Given the description of an element on the screen output the (x, y) to click on. 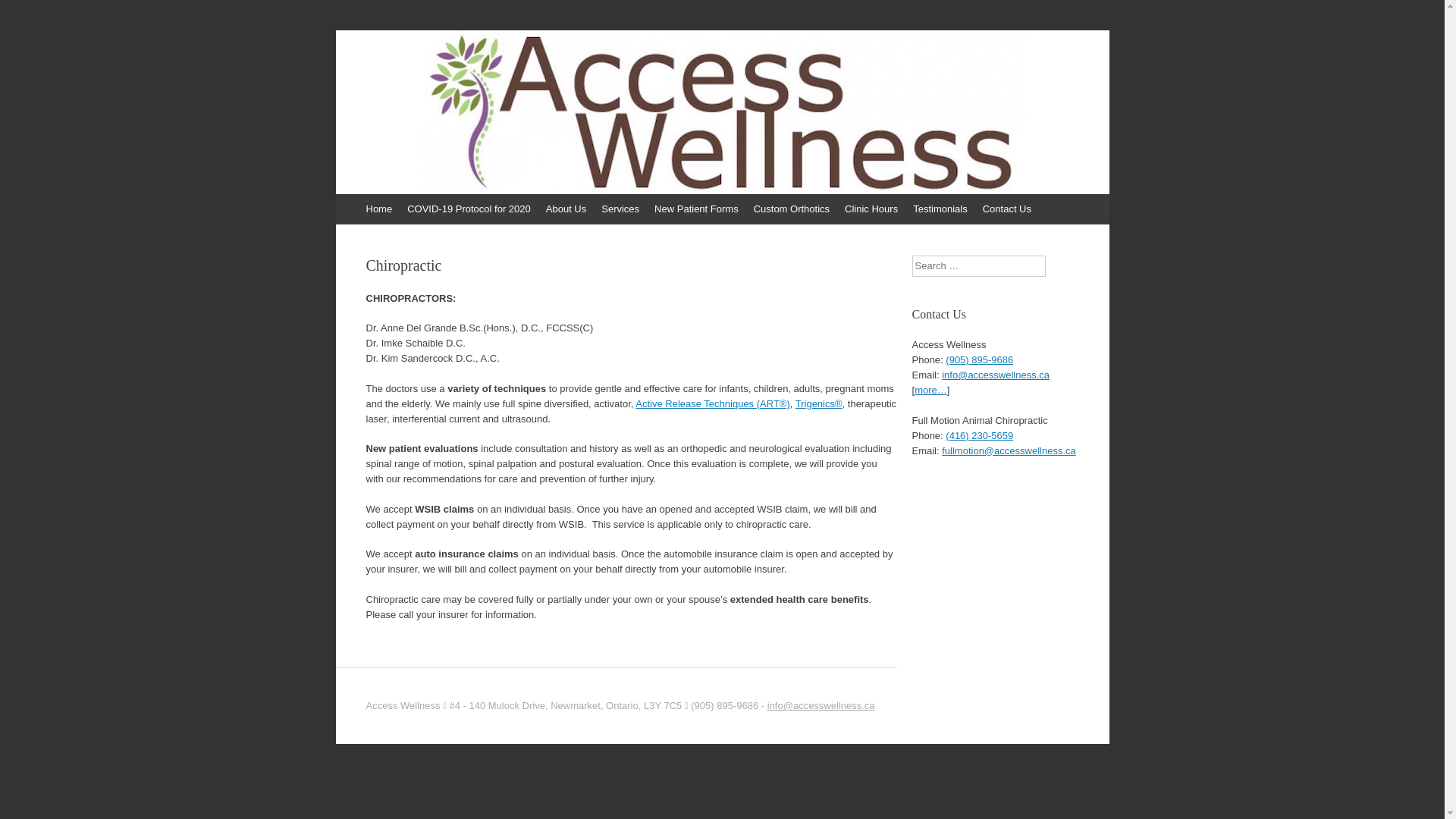
Testimonials Element type: text (940, 209)
New Patient Forms Element type: text (696, 209)
(416) 230-5659 Element type: text (979, 434)
(905) 895-9686 Element type: text (979, 359)
Search Element type: text (23, 15)
Custom Orthotics Element type: text (791, 209)
Contact Us Element type: text (1006, 209)
Clinic Hours Element type: text (871, 209)
info@accesswellness.ca Element type: text (821, 705)
Skip to content Element type: text (343, 201)
COVID-19 Protocol for 2020 Element type: text (468, 209)
accesswellness.ca Element type: text (457, 81)
Services Element type: text (619, 209)
Home Element type: text (378, 209)
info@accesswellness.ca Element type: text (995, 374)
About Us Element type: text (565, 209)
fullmotion@accesswellness.ca Element type: text (1008, 449)
